Given the description of an element on the screen output the (x, y) to click on. 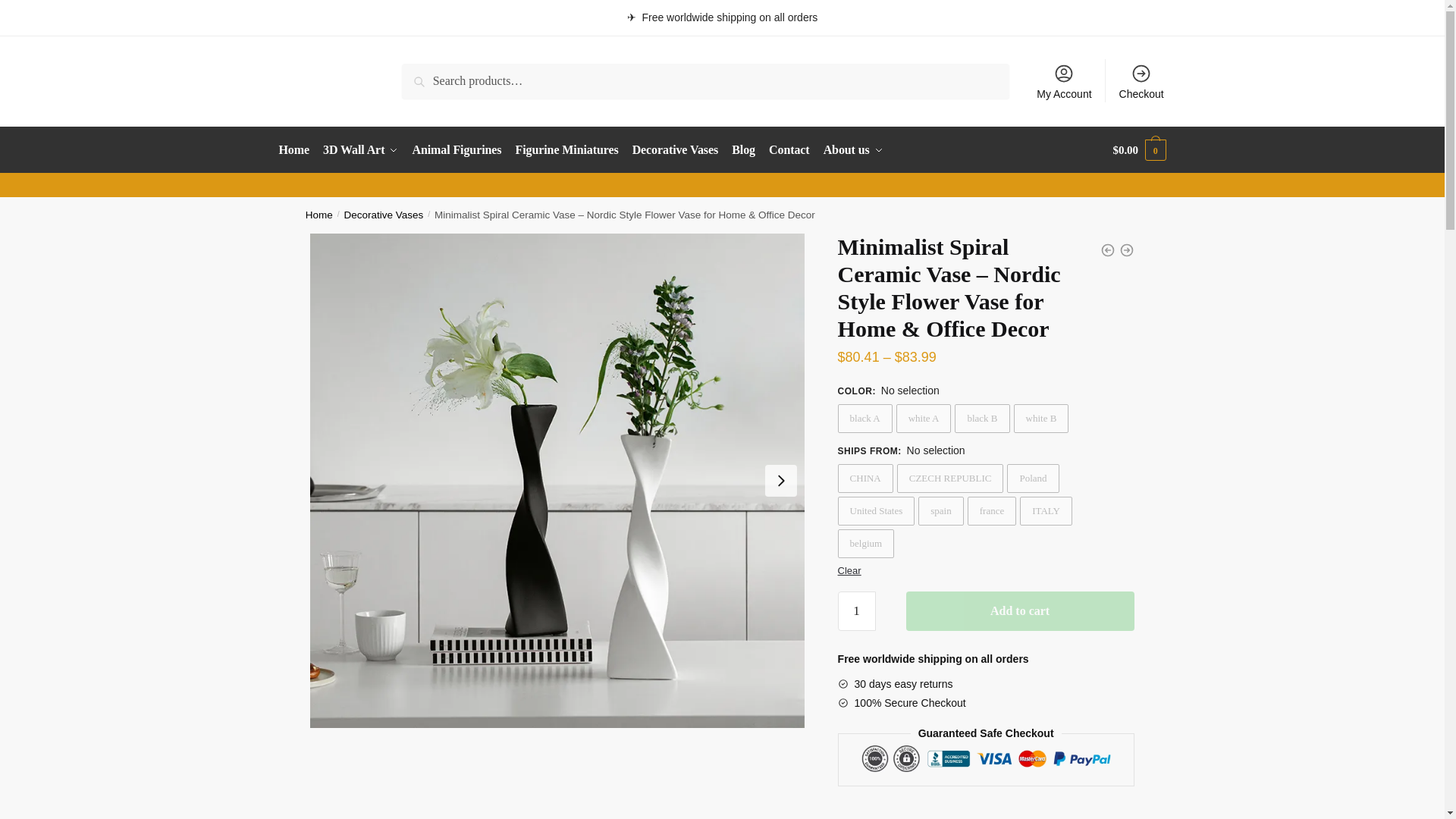
View your shopping cart (1139, 149)
Contact (788, 149)
About us (852, 149)
My Account (1063, 80)
Saafe05aedea14c1ca11e617a4351d323F-3.webp (494, 773)
Search (422, 74)
Animal Figurines (457, 149)
Figurine Miniatures (567, 149)
Decorative Vases (675, 149)
Decorative Vases (383, 214)
Home (319, 214)
3D Wall Art (359, 149)
1 (857, 610)
Checkout (1141, 80)
